Given the description of an element on the screen output the (x, y) to click on. 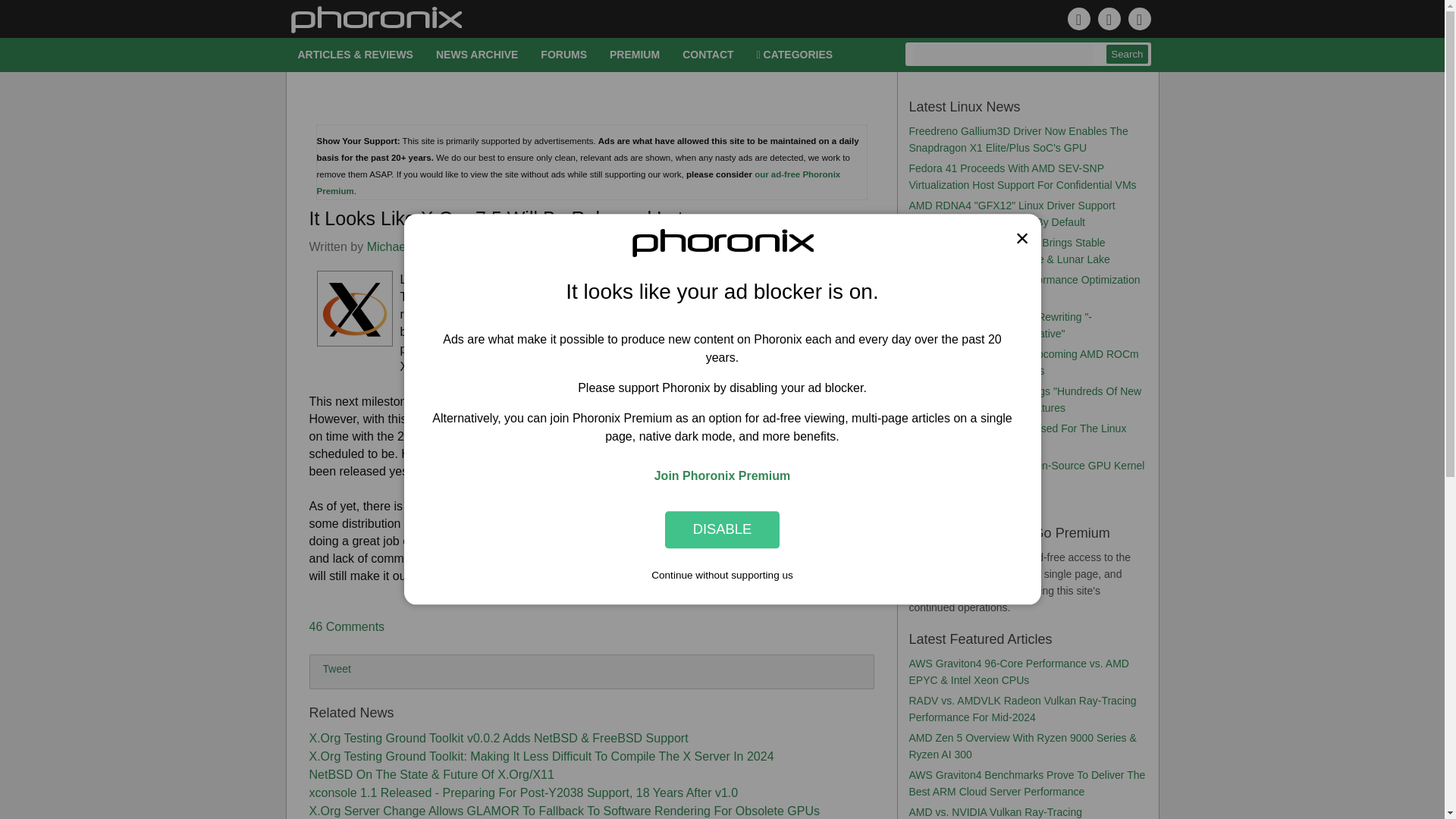
46 Comments (346, 626)
FORUMS (563, 54)
X.Org 7.5 (783, 436)
multiple (721, 296)
NEWS ARCHIVE (477, 54)
Search (1126, 54)
whether the X.Org 7.5 release schedule will be met (732, 278)
you can see (754, 331)
X.Org (484, 246)
Michael Larabel (409, 246)
our ad-free Phoronix Premium (579, 182)
Tweet (336, 668)
X Server 1.7 (689, 314)
CONTACT (707, 54)
